Given the description of an element on the screen output the (x, y) to click on. 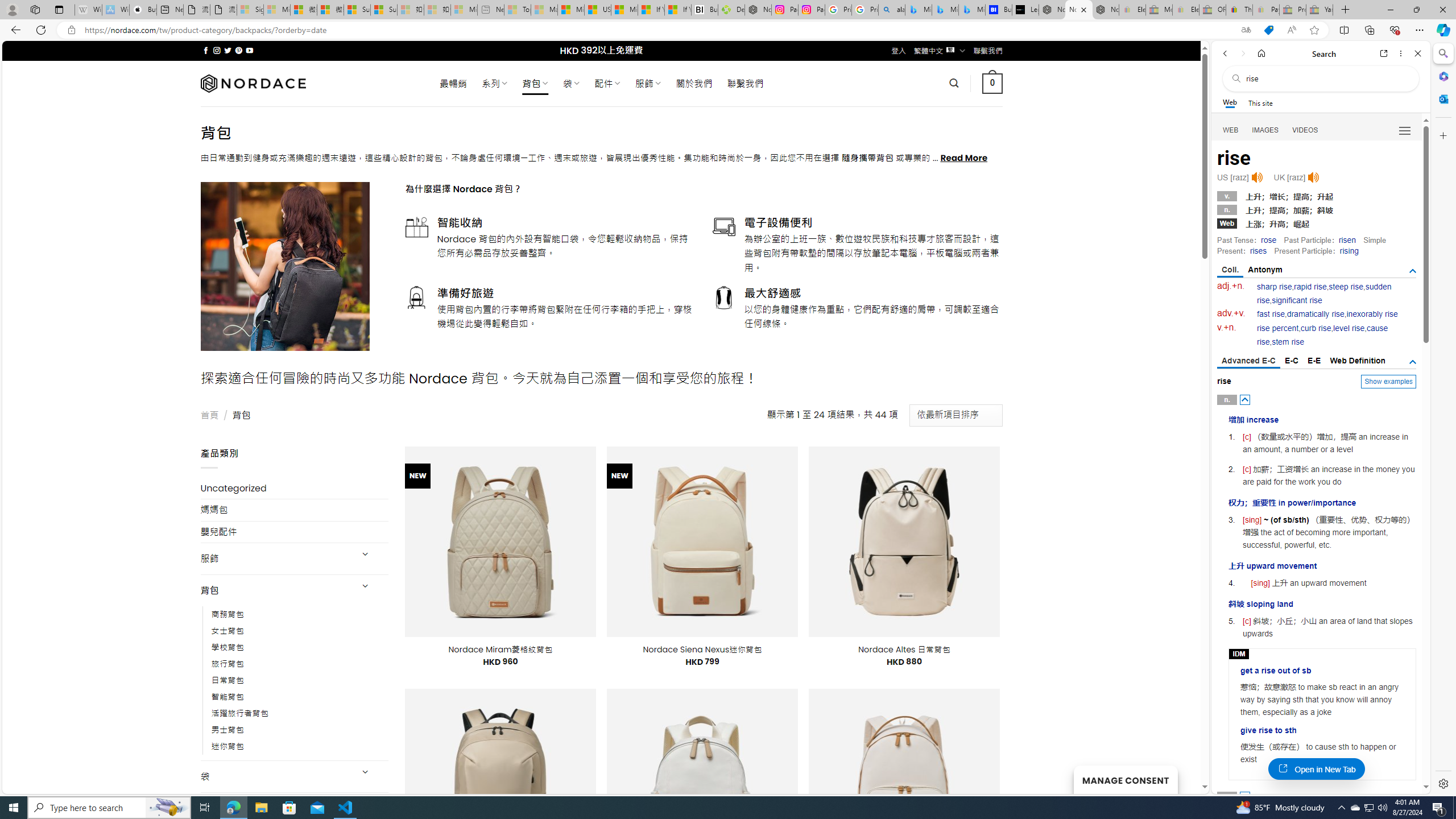
This site has coupons! Shopping in Microsoft Edge (1268, 29)
Nordace (252, 83)
Press Room - eBay Inc. - Sleeping (1292, 9)
Search Filter, IMAGES (1265, 129)
